Given the description of an element on the screen output the (x, y) to click on. 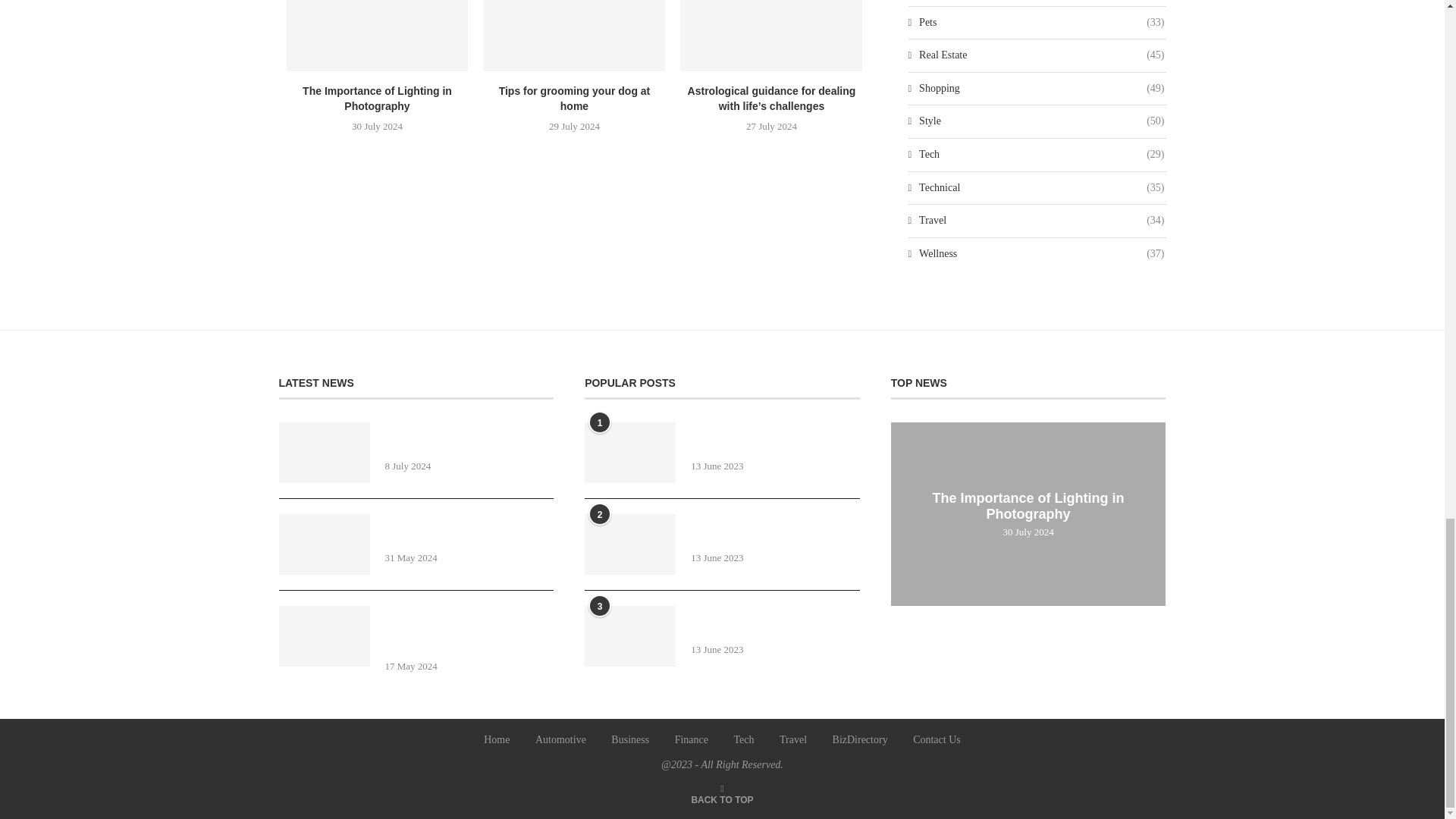
The Importance of Lighting in Photography (377, 35)
Tips for grooming your dog at home (574, 35)
